Given the description of an element on the screen output the (x, y) to click on. 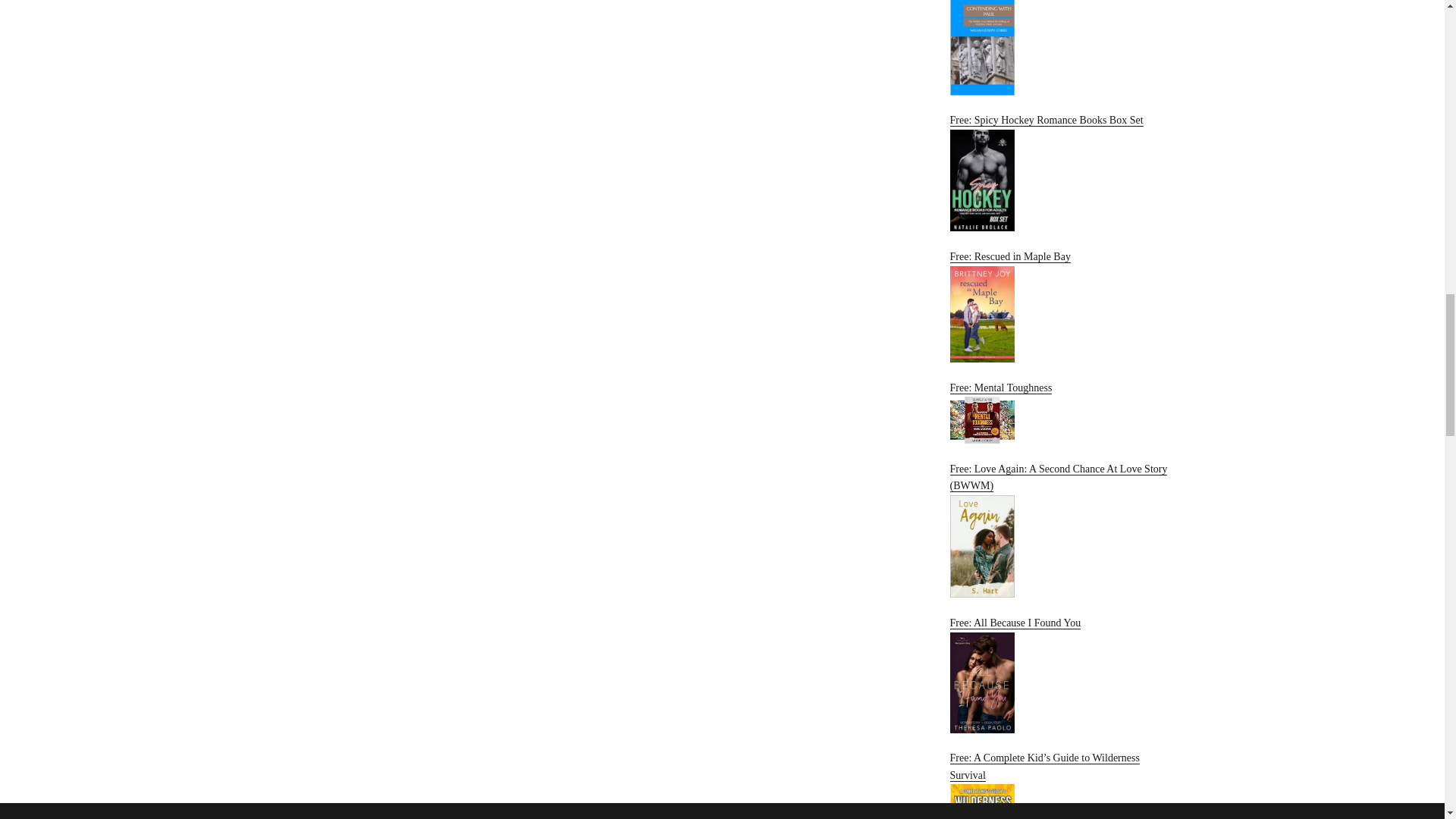
Free: Rescued in Maple Bay (1062, 306)
Free: All Because I Found You (1062, 674)
Free: Mental Toughness (1062, 412)
Free: Spicy Hockey Romance Books Box Set (1062, 172)
